Given the description of an element on the screen output the (x, y) to click on. 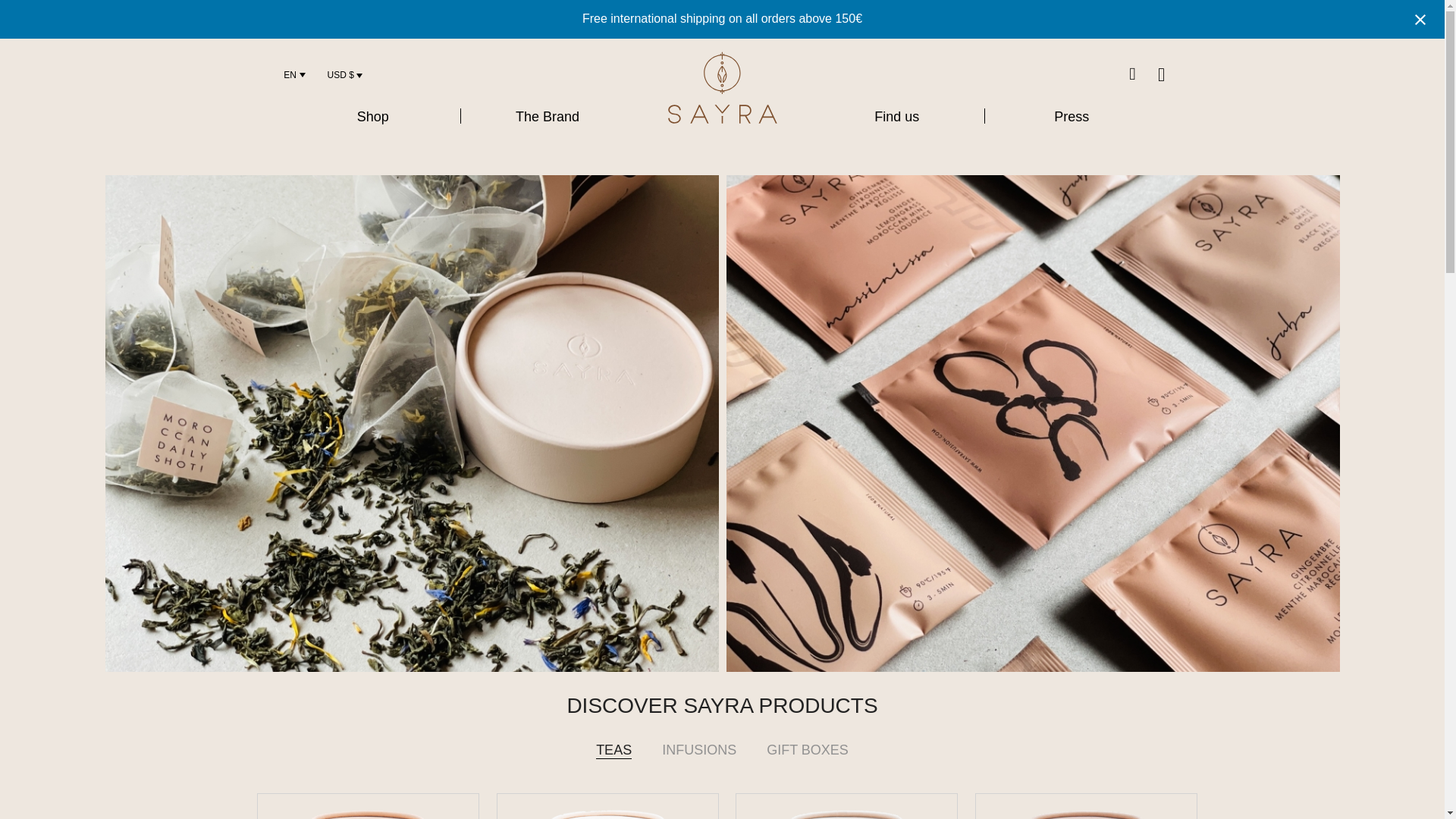
Shop (372, 116)
GIFT BOXES (807, 762)
TEAS (613, 763)
The Brand (547, 116)
TEAS (613, 763)
INFUSIONS (698, 762)
EN (289, 74)
SVG Image (722, 87)
Find us (896, 116)
Press (1071, 116)
